Given the description of an element on the screen output the (x, y) to click on. 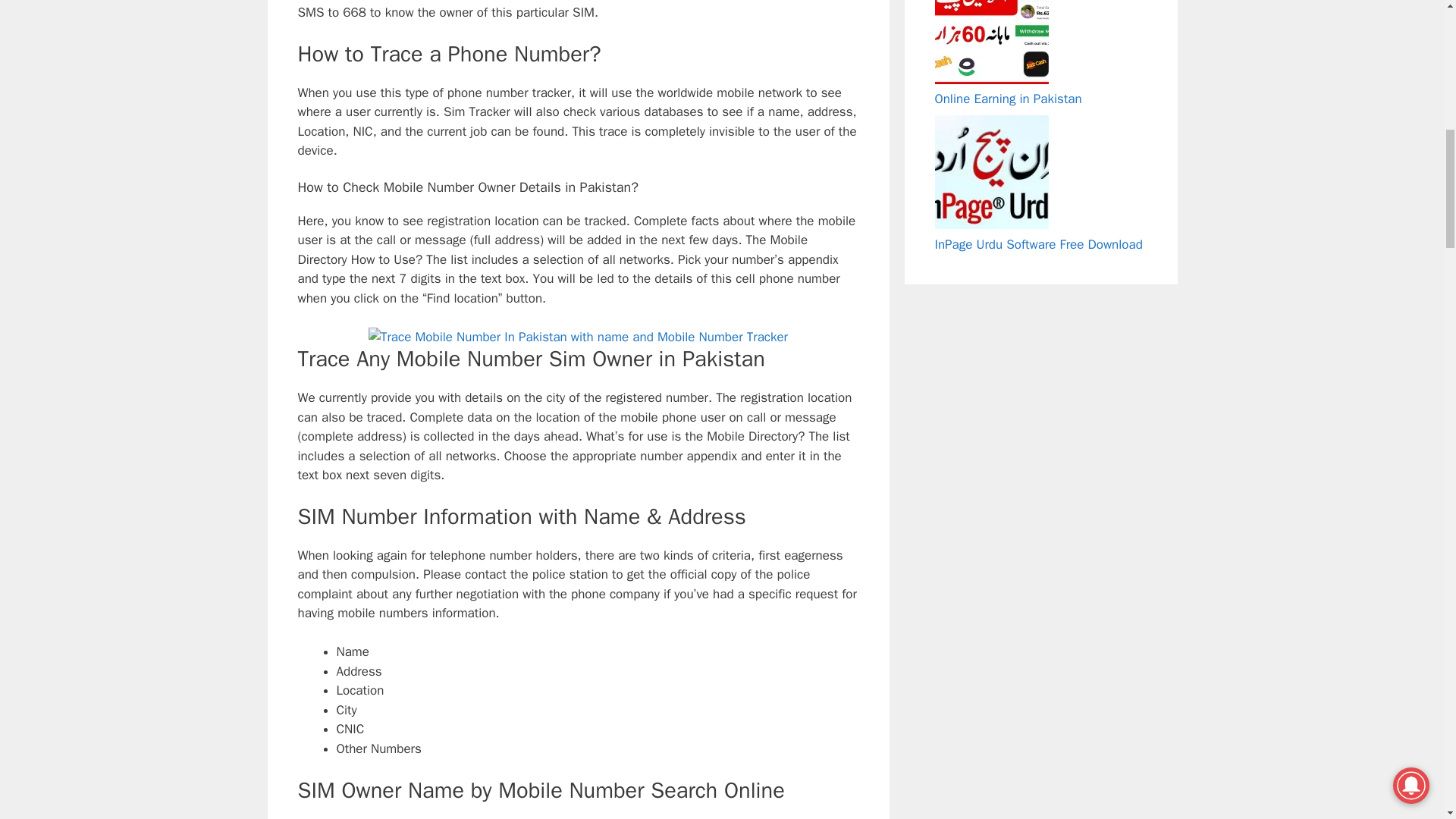
Trace Mobile Number In Pakistan (577, 337)
